Given the description of an element on the screen output the (x, y) to click on. 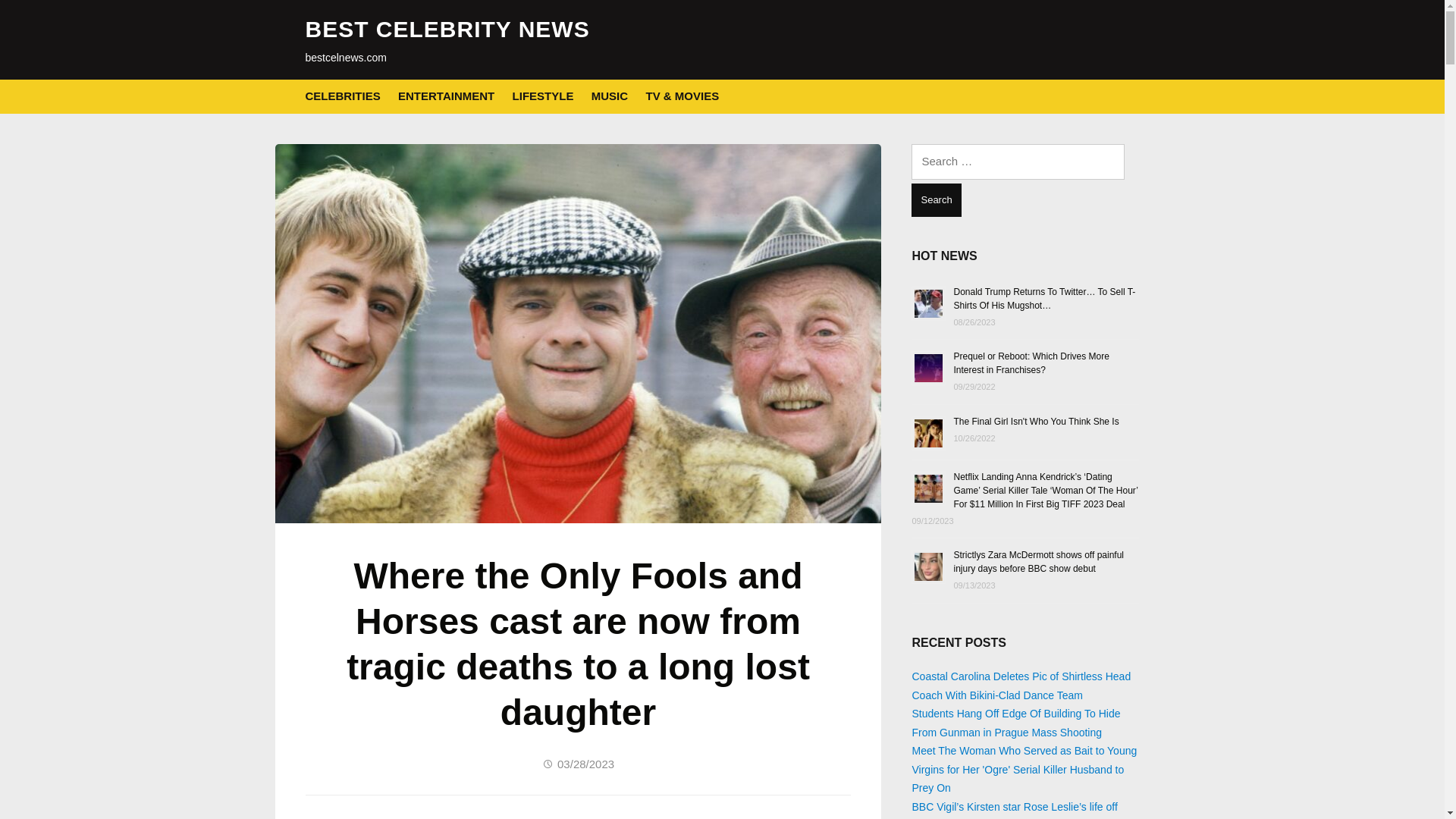
LIFESTYLE (542, 96)
The Final Girl Isn't Who You Think She Is (1035, 420)
BEST CELEBRITY NEWS (446, 28)
CELEBRITIES (342, 96)
Search (935, 200)
Search (935, 200)
Prequel or Reboot: Which Drives More Interest in Franchises? (1030, 363)
Search (935, 200)
ENTERTAINMENT (446, 96)
MUSIC (609, 96)
